Given the description of an element on the screen output the (x, y) to click on. 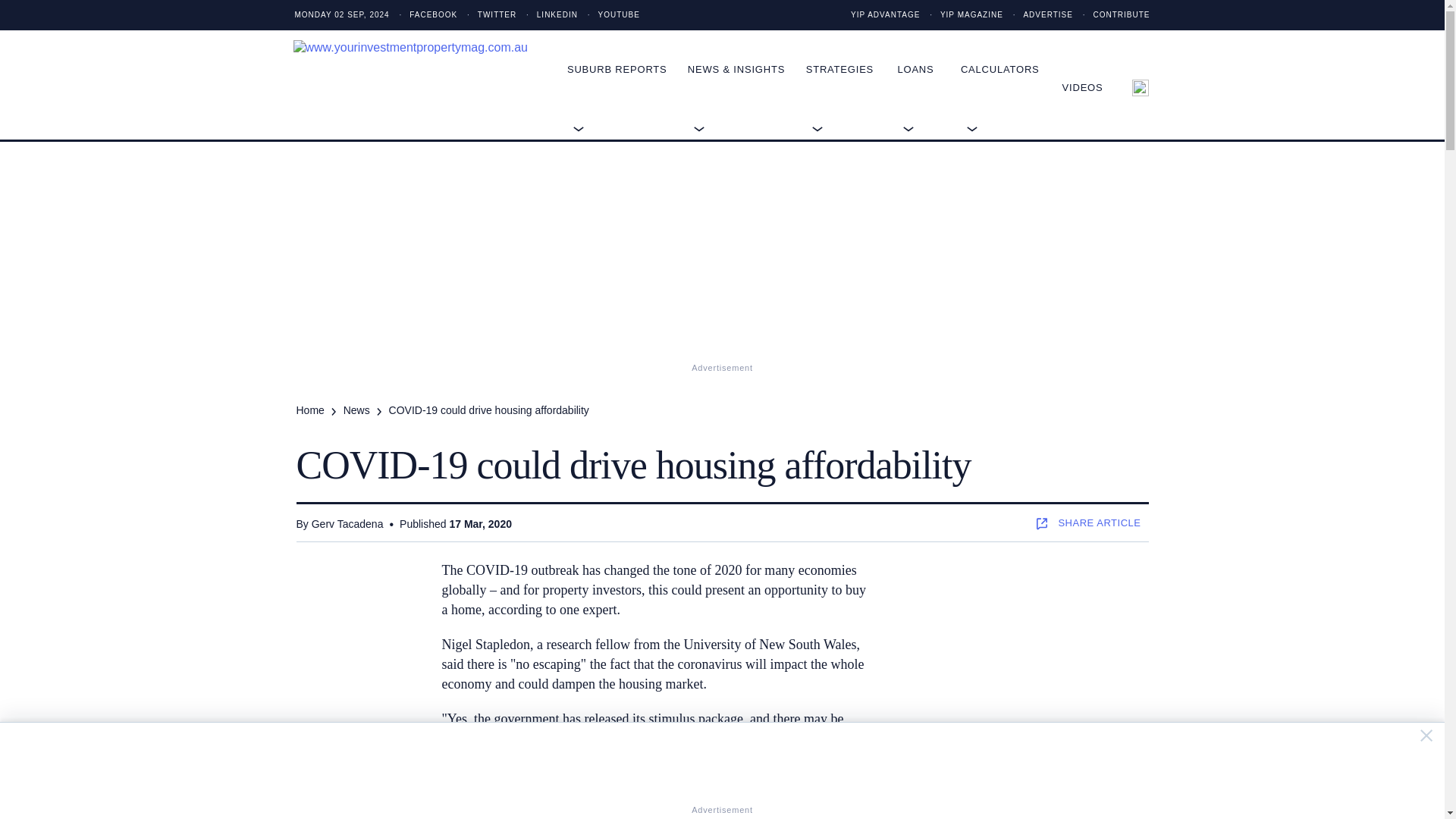
STRATEGIES (852, 69)
YIP MAGAZINE (962, 15)
FACEBOOK (424, 15)
CONTRIBUTE (1112, 15)
YIP ADVANTAGE (885, 15)
ADVERTISE (1039, 15)
LINKEDIN (548, 15)
TWITTER (488, 15)
YOUTUBE (609, 15)
